Given the description of an element on the screen output the (x, y) to click on. 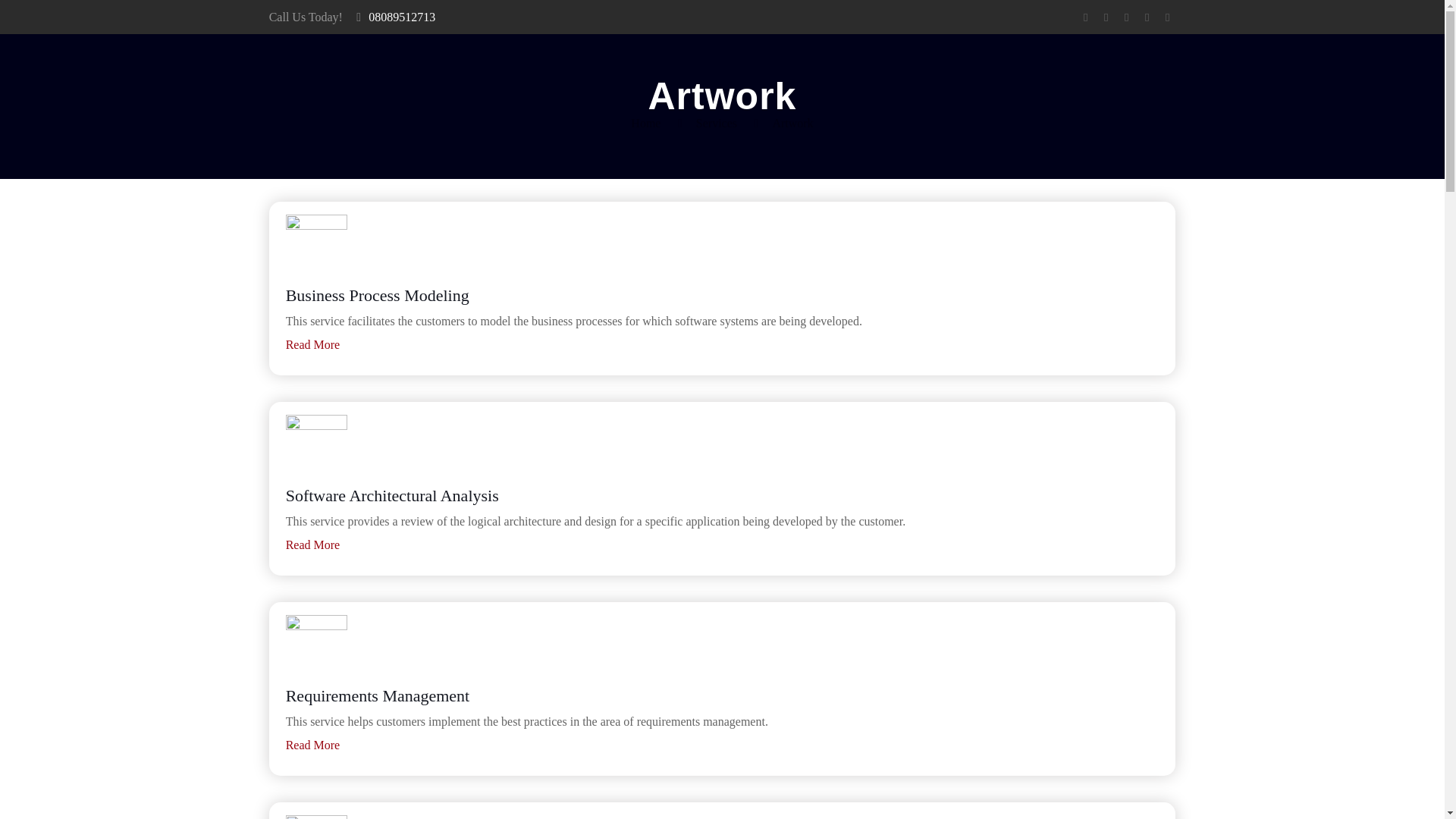
Instagram (1166, 17)
Read More (312, 744)
LinkedIn (1146, 17)
Read More (312, 344)
Artwork (791, 123)
08089512713 (401, 16)
Facebook (1085, 17)
Services (715, 123)
Home (645, 123)
Twitter (1126, 17)
Read More (312, 544)
